Given the description of an element on the screen output the (x, y) to click on. 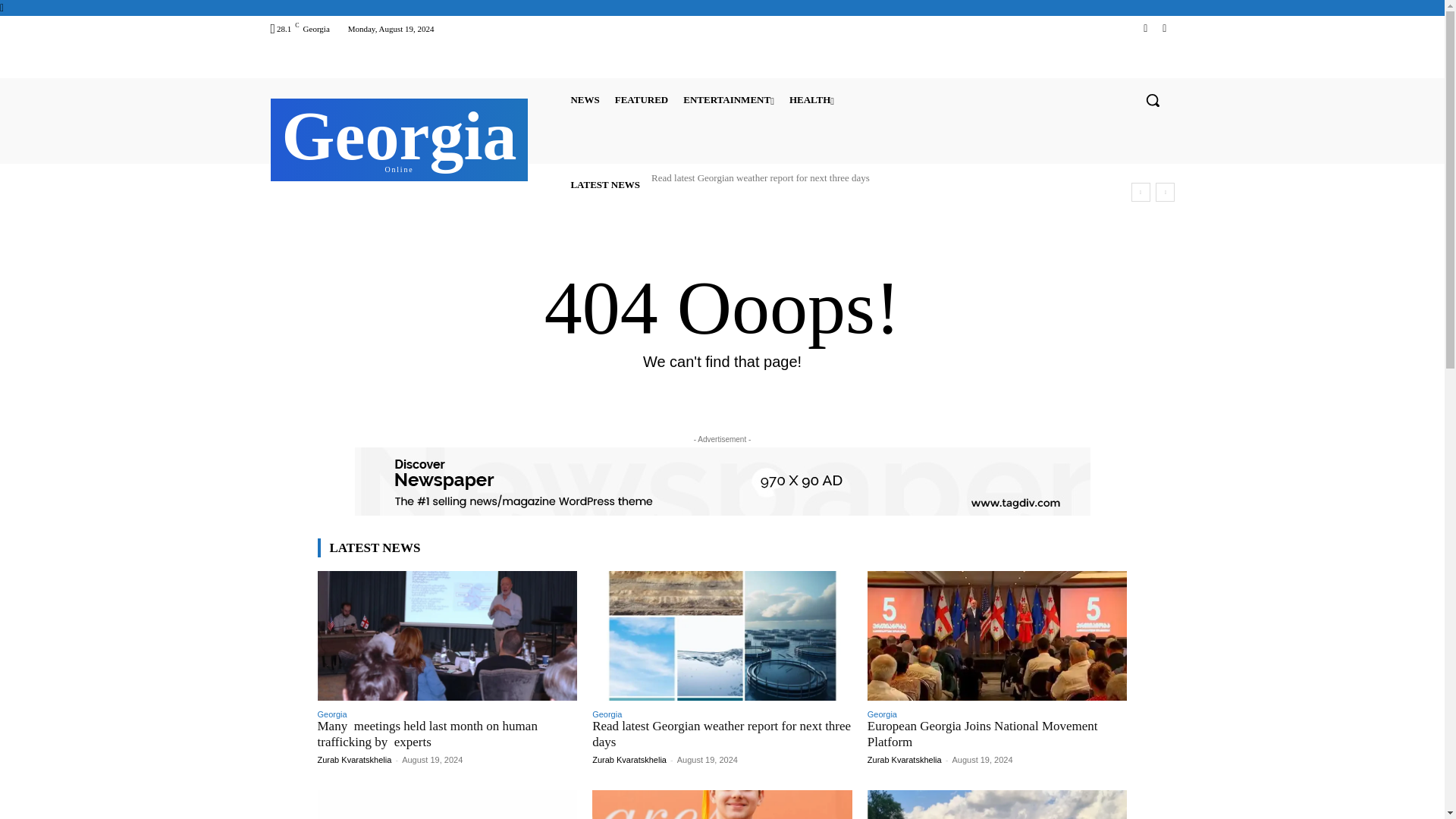
Read latest Georgian weather report for next three days (759, 177)
HEALTH (811, 99)
NEWS (584, 99)
FEATURED (641, 99)
Facebook (1144, 27)
Read latest Georgian weather report for next three days (759, 177)
Twitter (1163, 27)
ENTERTAINMENT (399, 137)
